Given the description of an element on the screen output the (x, y) to click on. 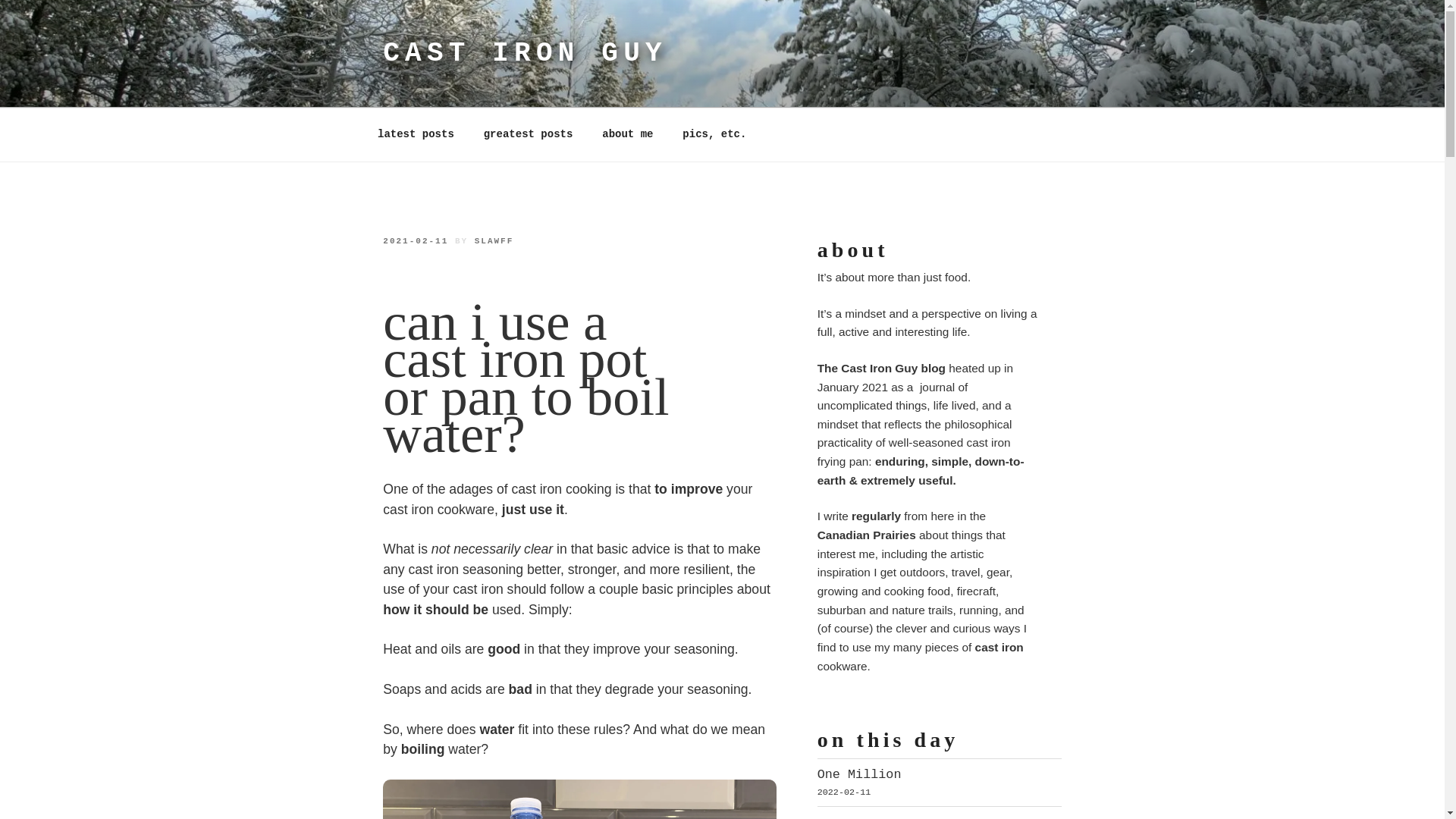
SLAWFF (493, 240)
greatest posts (528, 134)
pics, etc. (714, 134)
CAST IRON GUY (524, 52)
about me (627, 134)
2021-02-11 (415, 240)
One Million (858, 774)
latest posts (415, 134)
